Given the description of an element on the screen output the (x, y) to click on. 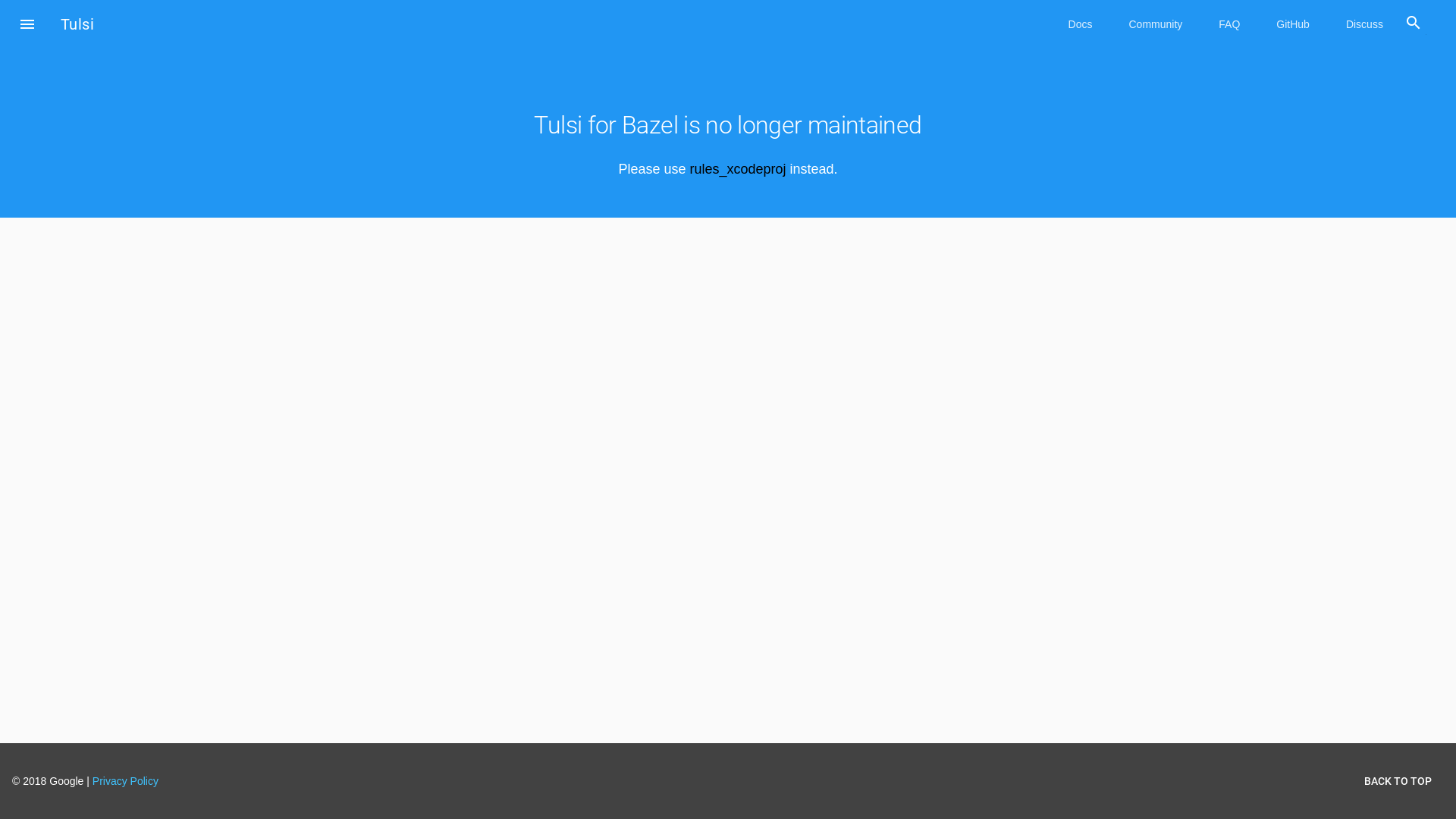
BACK TO TOP Element type: text (1397, 780)
Discuss Element type: text (1364, 24)
Docs Element type: text (1080, 24)
Community Element type: text (1155, 24)
Privacy Policy Element type: text (125, 781)
GitHub Element type: text (1292, 24)
rules_xcodeproj Element type: text (737, 168)
FAQ Element type: text (1229, 24)
